Given the description of an element on the screen output the (x, y) to click on. 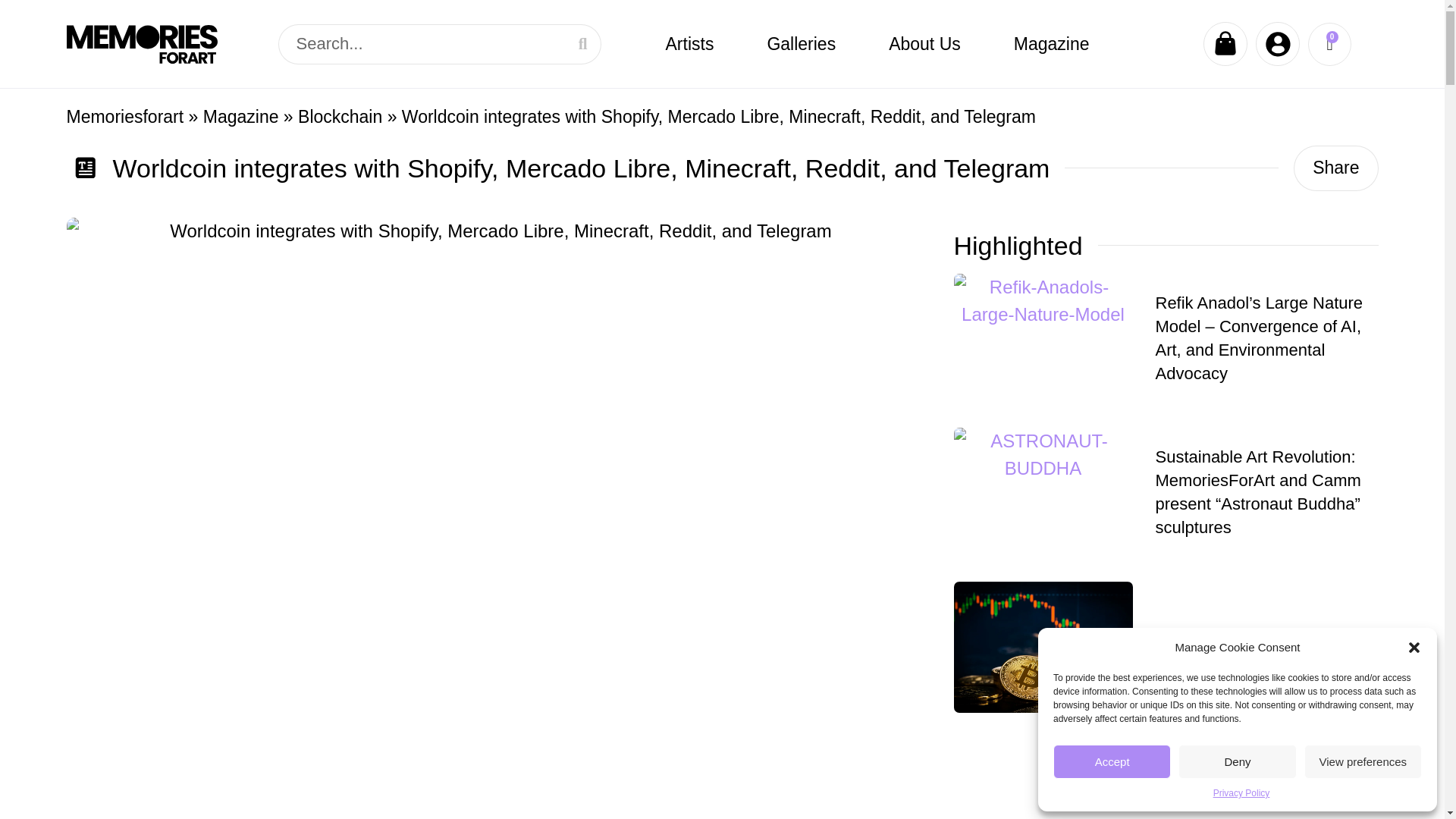
About Us (924, 44)
Blockchain (339, 116)
Deny (1236, 761)
Memoriesforart (125, 116)
Artists (689, 44)
Galleries (801, 44)
Magazine (241, 116)
Accept (1111, 761)
Privacy Policy (1240, 793)
0 (1329, 44)
Share (1335, 167)
Magazine (1051, 44)
View preferences (1363, 761)
